Given the description of an element on the screen output the (x, y) to click on. 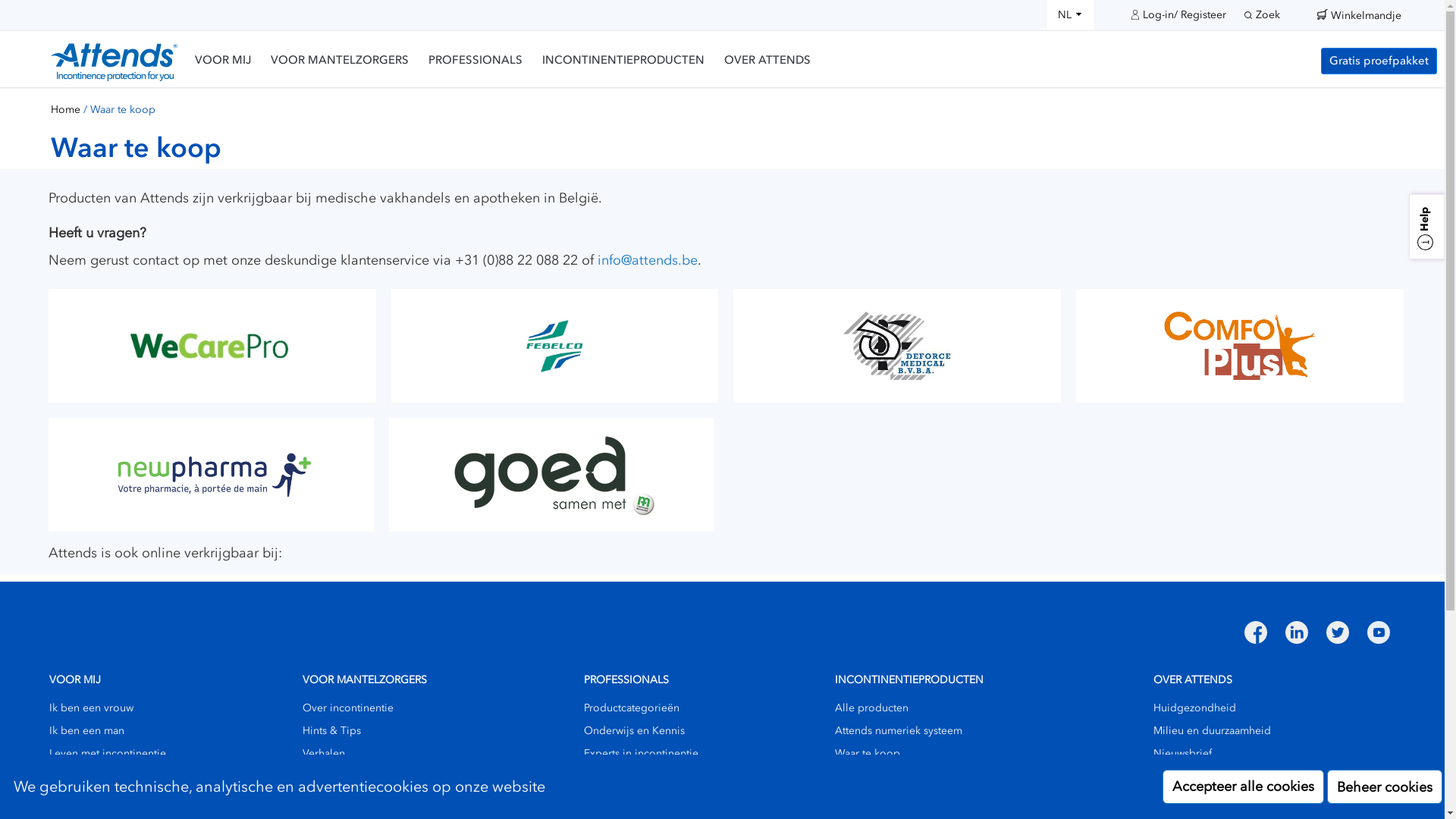
Nieuwsbrief Element type: text (1182, 752)
Alle producten Element type: text (871, 707)
Hints & Tips Element type: text (78, 775)
Nieuws Element type: text (1171, 775)
Log-in/ Registeer Element type: text (1178, 14)
Ik ben een vrouw Element type: text (91, 707)
Winkelmandje Element type: text (1365, 11)
Verhalen Element type: text (323, 752)
Zoek Element type: text (1262, 14)
Beheer cookies Element type: text (1384, 785)
INCONTINENTIEPRODUCTEN Element type: text (622, 60)
Huidgezondheid Element type: text (1194, 707)
Attends numeriek systeem Element type: text (898, 730)
Milieu en duurzaamheid Element type: text (1211, 730)
Vind het juiste product Element type: text (890, 798)
Hoe zorg je voor iemand met
incontinentie Element type: text (374, 783)
PROFESSIONALS Element type: text (475, 60)
Waar te koop Element type: text (867, 752)
Over incontinentie Element type: text (347, 707)
Case Studies Element type: text (614, 798)
info@attends.be Element type: text (647, 259)
Hints & Tips Element type: text (331, 730)
Attends Logo Element type: hover (113, 62)
Hints & Tips Element type: text (612, 775)
Ik ben een man Element type: text (86, 730)
Uitleg Terminologie Element type: text (1202, 798)
Accepteer alle cookies Element type: text (1243, 786)
Home Element type: text (65, 109)
Leven met incontinentie Element type: text (107, 752)
Beheer cookies Element type: text (1384, 786)
VOOR MIJ Element type: text (222, 60)
Verhalen Element type: text (70, 798)
Gratis proefpakket Element type: text (1379, 60)
Experts in incontinentie Element type: text (640, 752)
VOOR MANTELZORGERS Element type: text (339, 60)
Onderwijs en Kennis Element type: text (633, 730)
OVER ATTENDS Element type: text (766, 60)
